Given the description of an element on the screen output the (x, y) to click on. 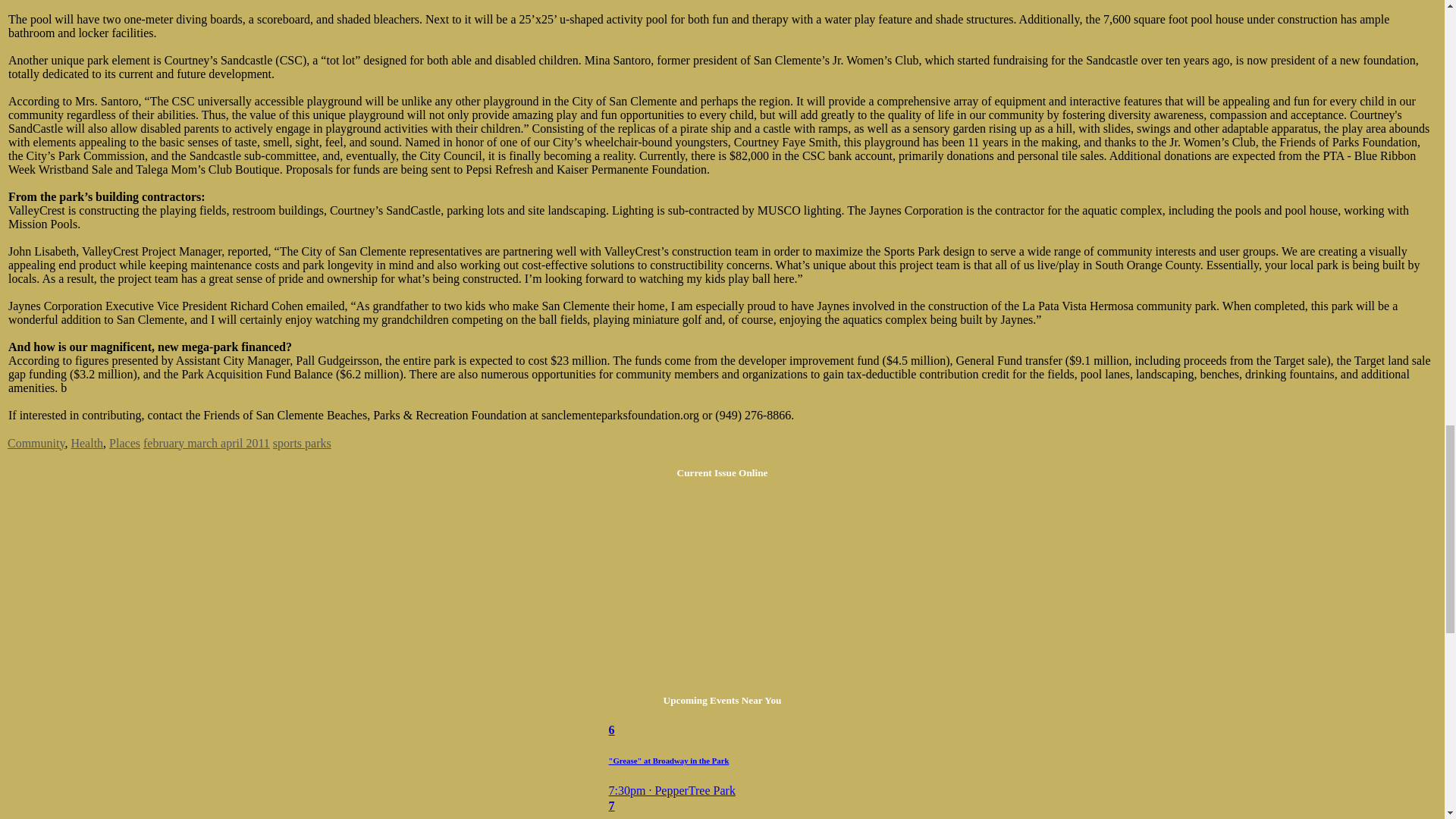
Health (86, 442)
Community (35, 442)
Places (124, 442)
